Given the description of an element on the screen output the (x, y) to click on. 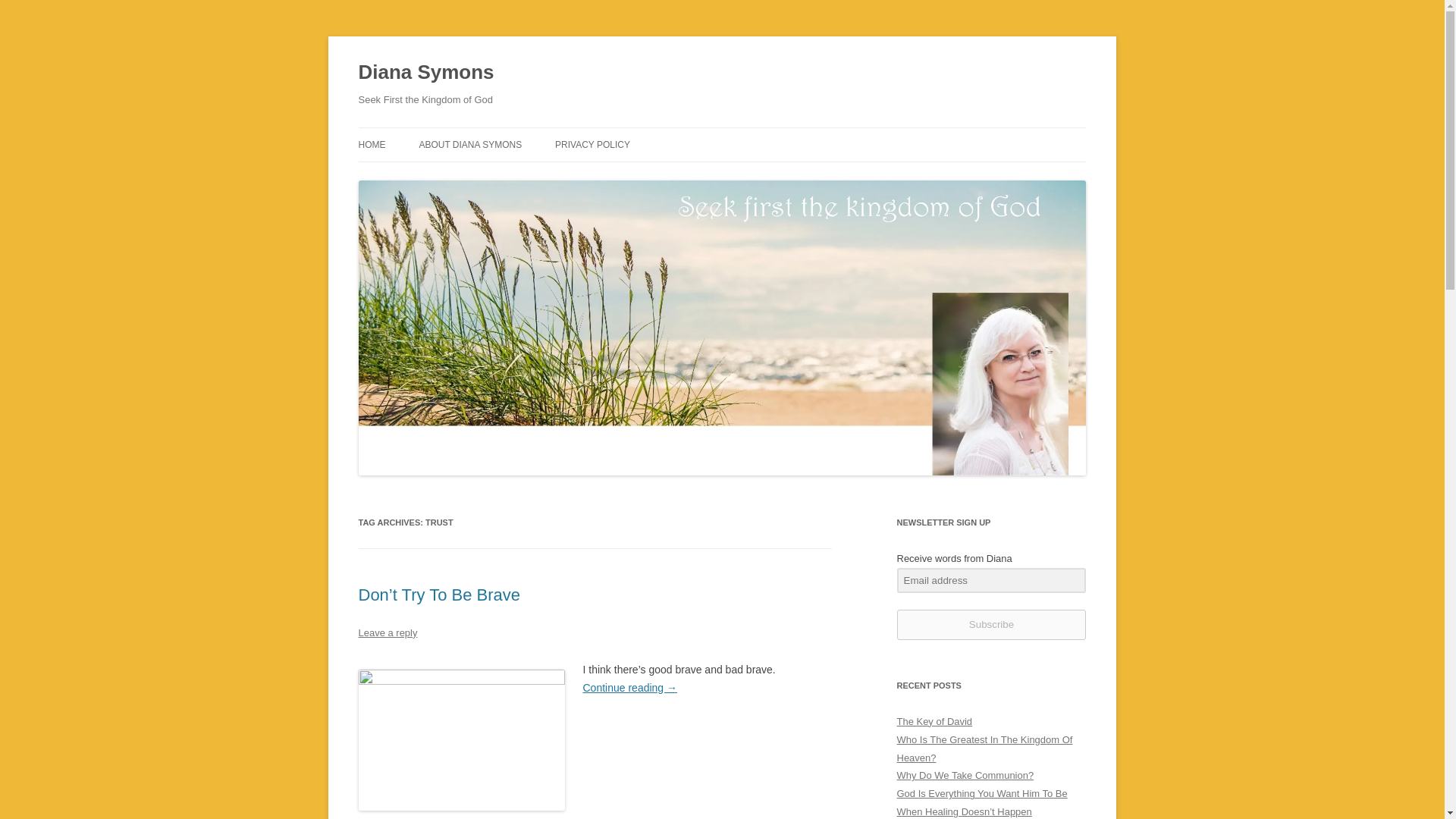
Leave a reply (387, 632)
PRIVACY POLICY (592, 144)
brave (461, 739)
ABOUT DIANA SYMONS (470, 144)
Diana Symons (425, 72)
